Given the description of an element on the screen output the (x, y) to click on. 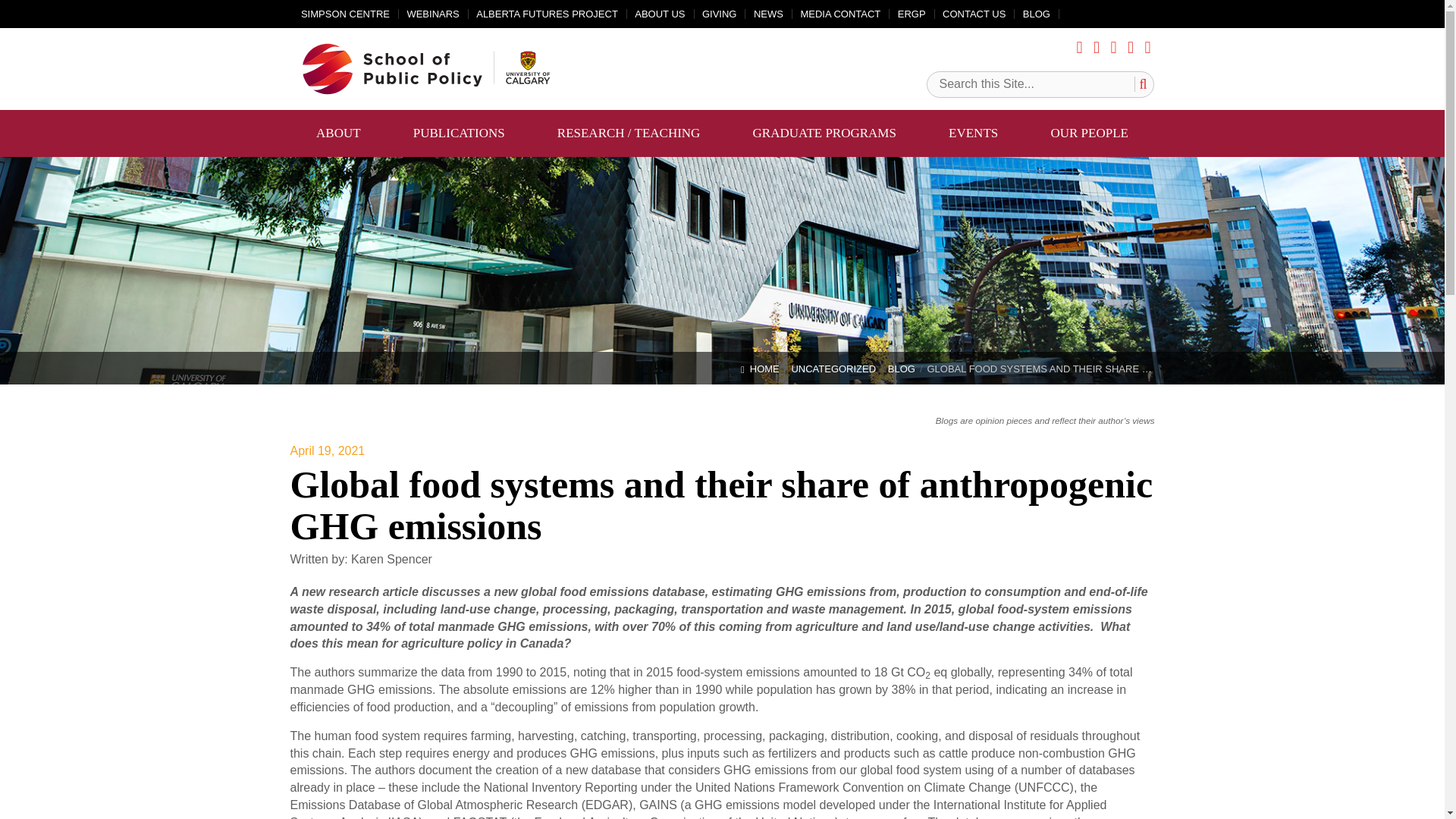
ERGP (912, 13)
CONTACT US (974, 13)
GIVING (718, 13)
MEDIA CONTACT (839, 13)
ABOUT US (659, 13)
ABOUT (338, 133)
Go to the Uncategorized category archives. (838, 369)
Go to Blog. (907, 369)
PUBLICATIONS (459, 133)
BLOG (1036, 13)
NEWS (768, 13)
SIMPSON CENTRE (345, 13)
WEBINARS (432, 13)
Go to The School of Public Policy. (765, 369)
